Given the description of an element on the screen output the (x, y) to click on. 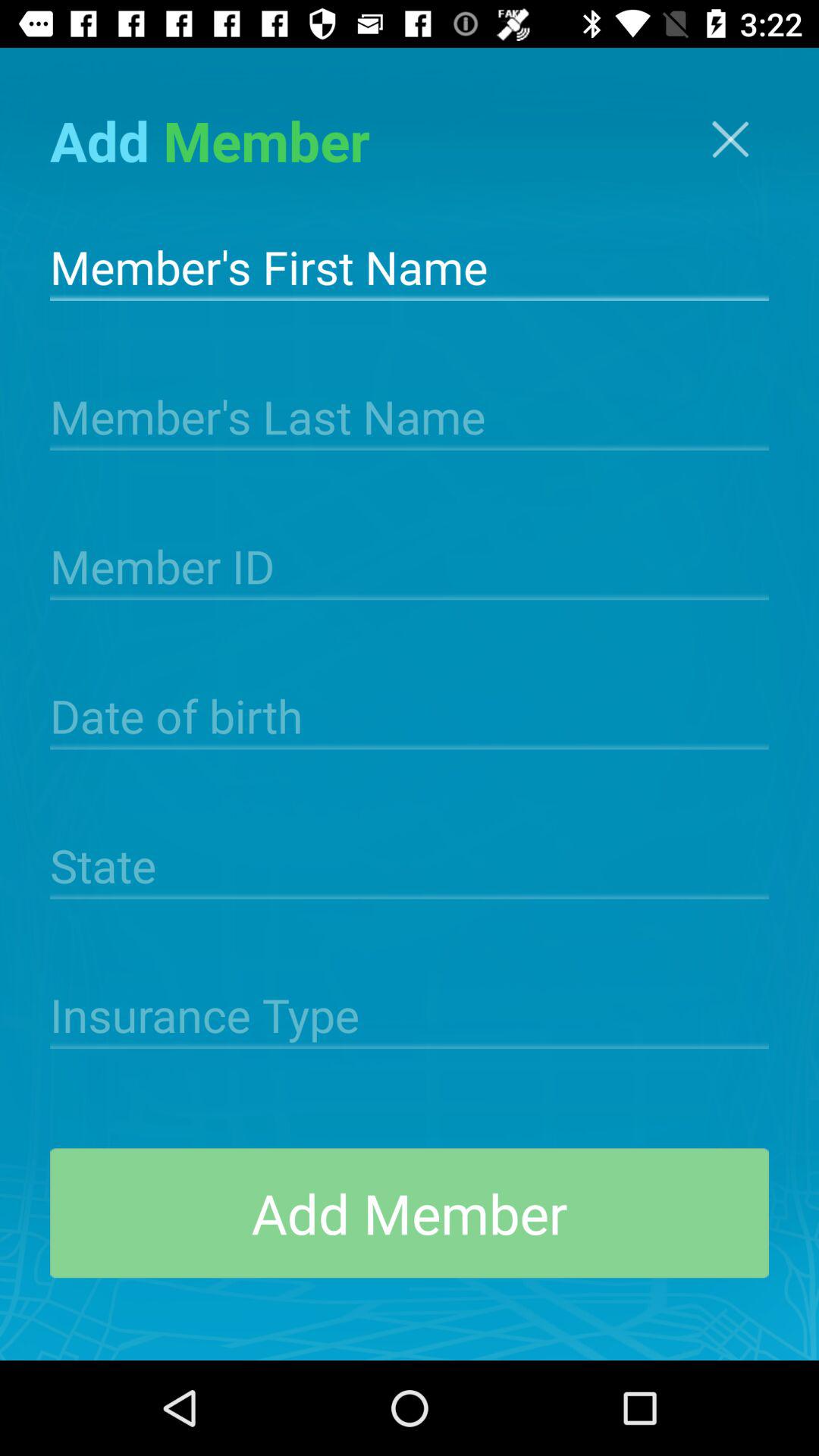
press the icon at the top right corner (730, 139)
